Given the description of an element on the screen output the (x, y) to click on. 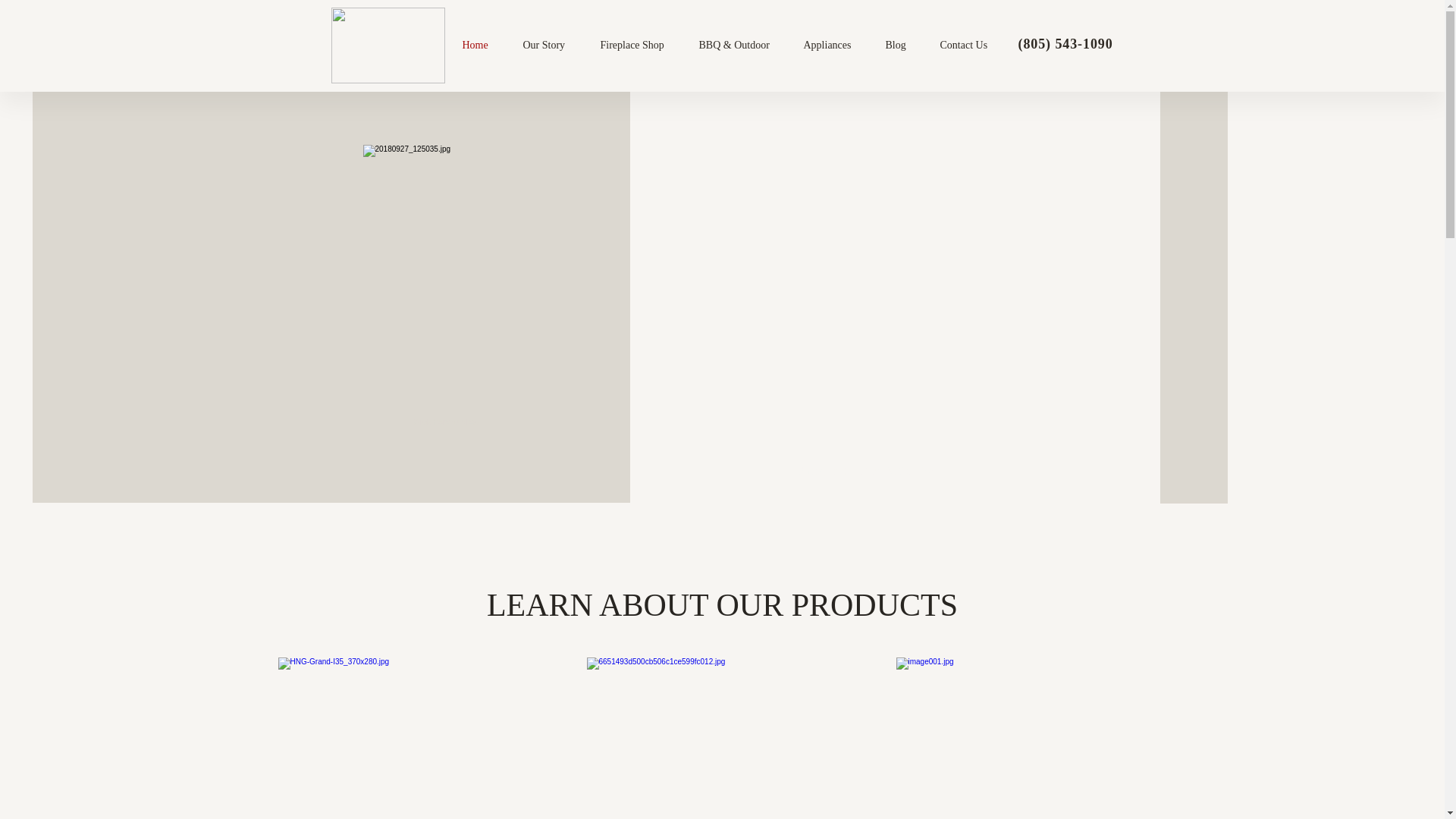
Blog (905, 45)
Fireplace Shop (641, 45)
Our Story (553, 45)
Contact Us (973, 45)
Click Here to View (445, 421)
Appliances (836, 45)
Home (484, 45)
